Given the description of an element on the screen output the (x, y) to click on. 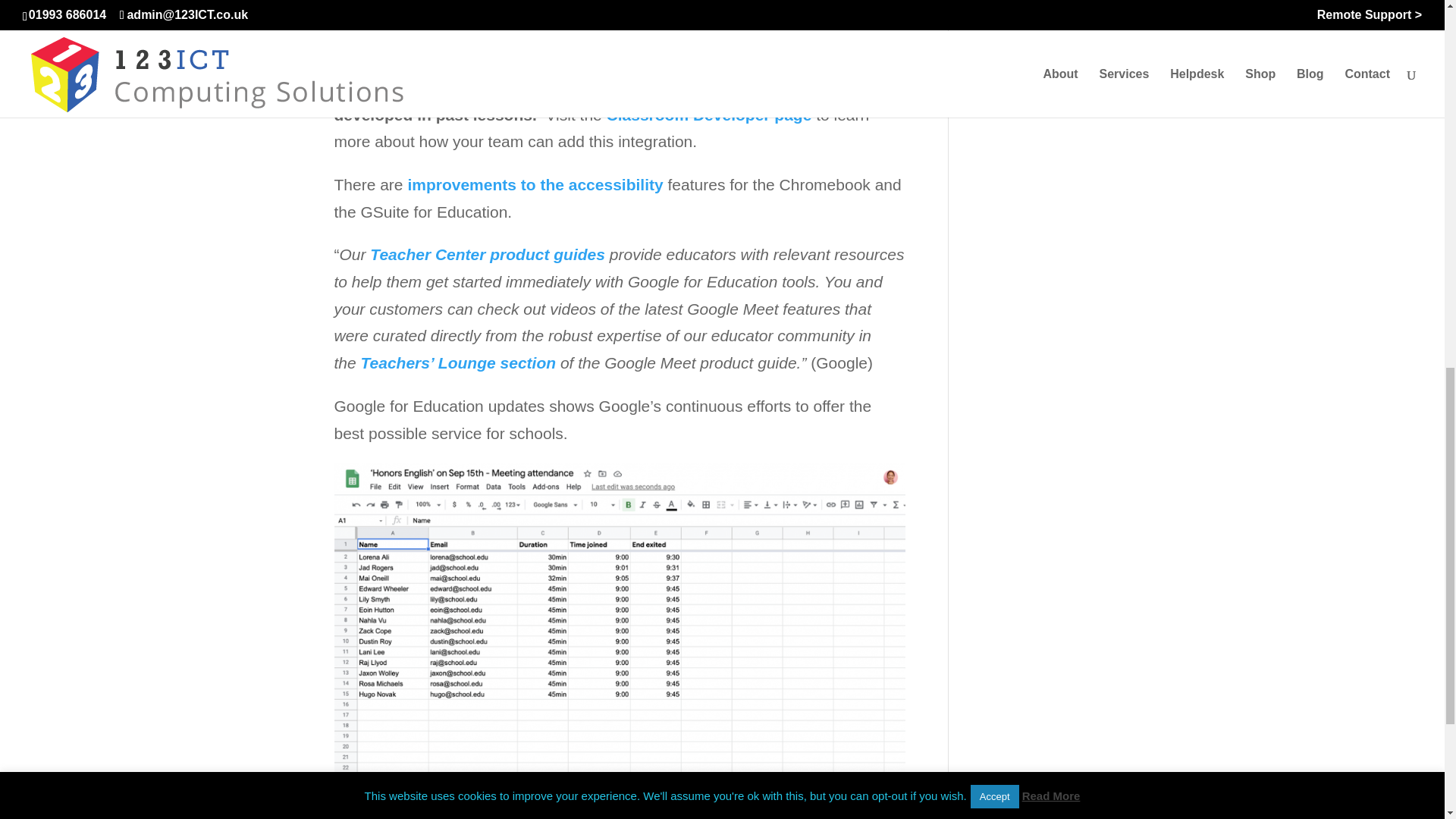
Teacher Center product guides (487, 253)
improvements to the accessibility (534, 184)
Safer Internet Day 2024 (1035, 7)
Create Day 24 (1022, 39)
Classroom Developer page (709, 114)
